Given the description of an element on the screen output the (x, y) to click on. 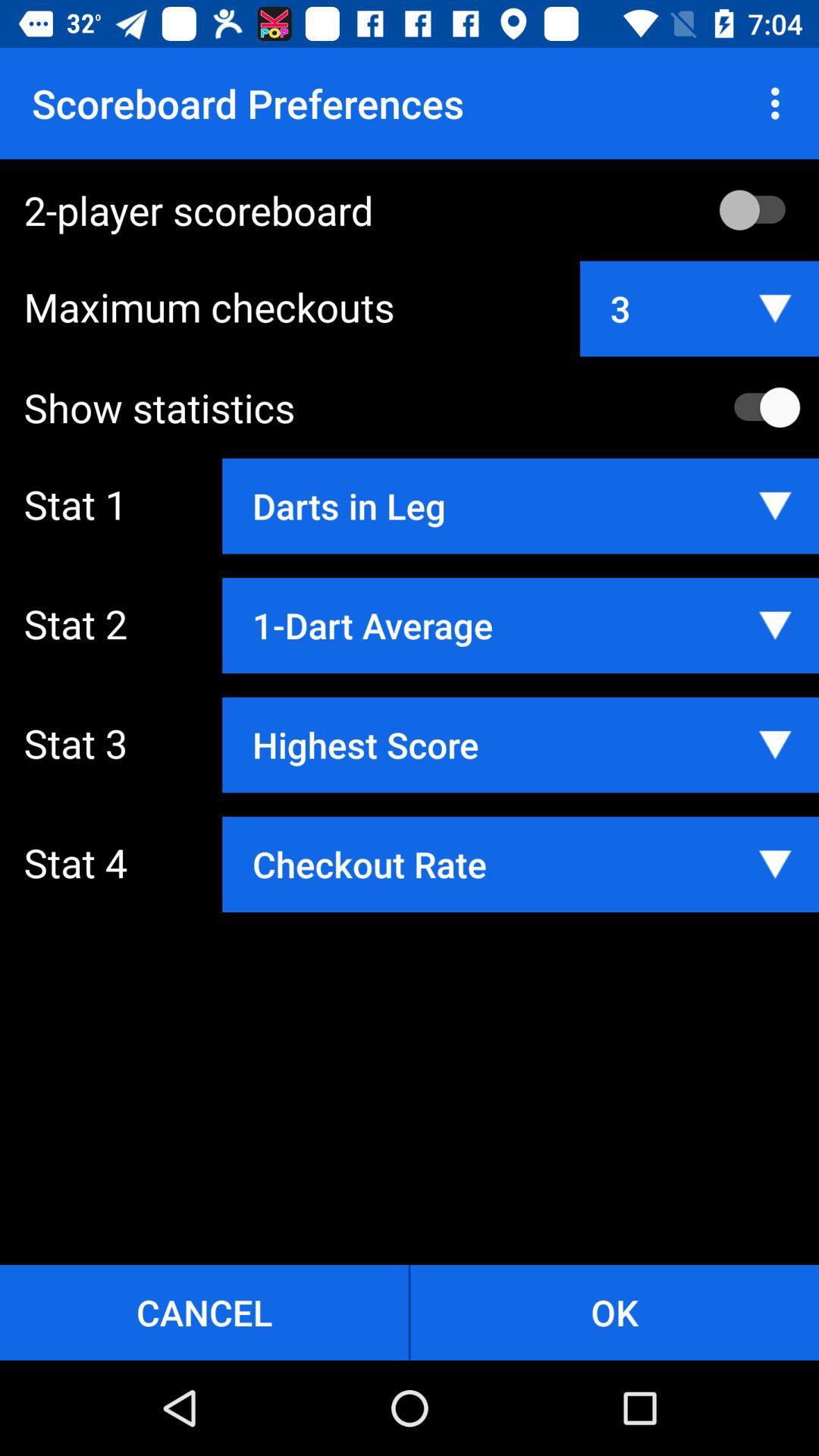
select the 1-dart average (520, 625)
